Given the description of an element on the screen output the (x, y) to click on. 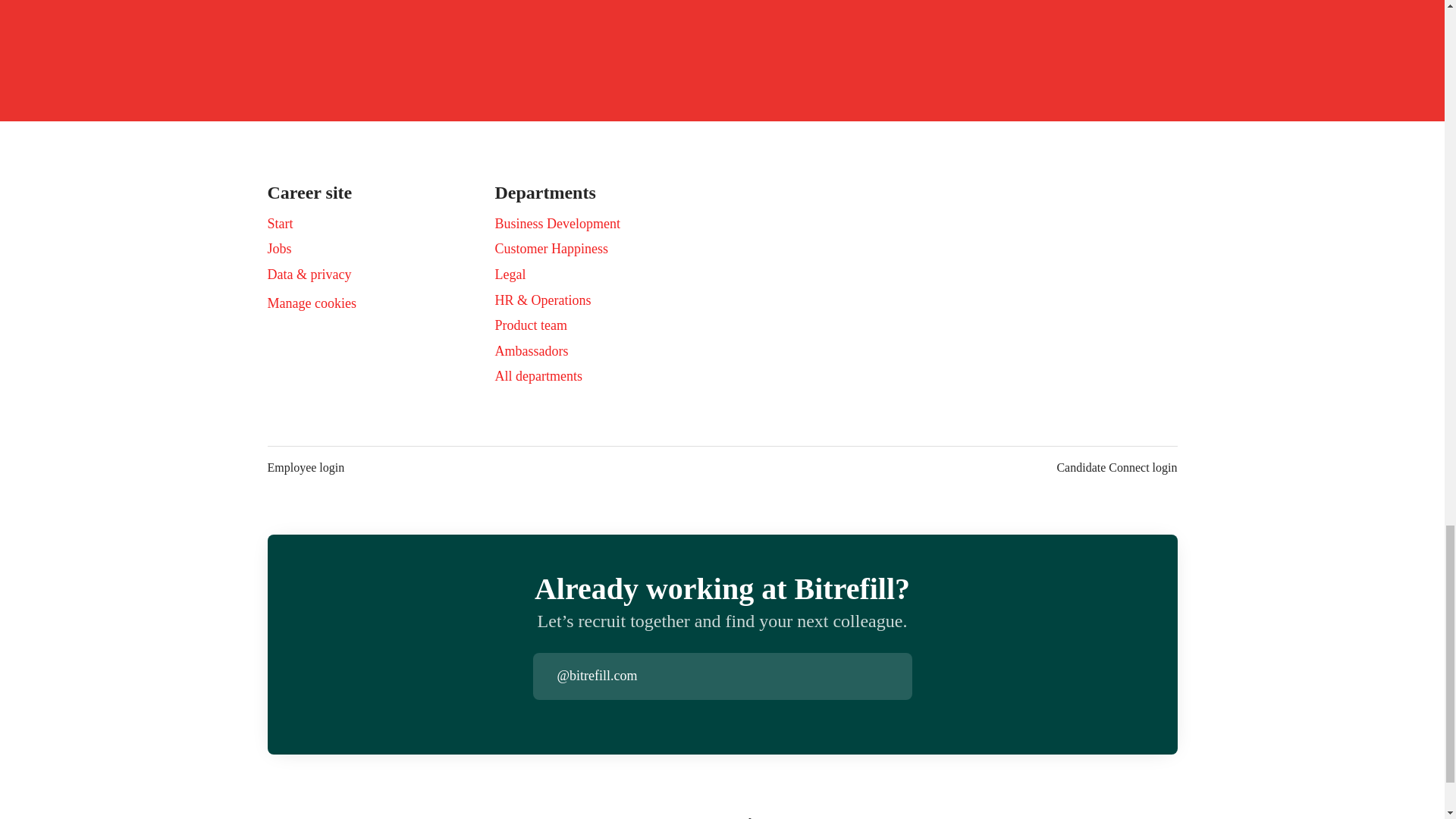
Product team (530, 324)
Jobs (278, 248)
Business Development (557, 223)
Legal (510, 274)
All departments (537, 375)
Log in (899, 676)
Ambassadors (531, 350)
Manage cookies (310, 303)
Customer Happiness (551, 248)
Start (279, 223)
